Given the description of an element on the screen output the (x, y) to click on. 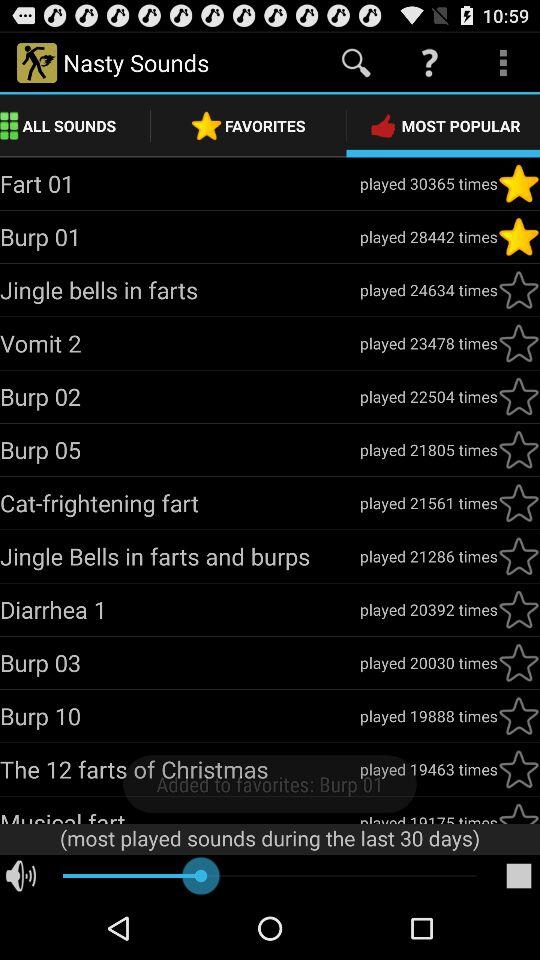
make a favorite (519, 812)
